Given the description of an element on the screen output the (x, y) to click on. 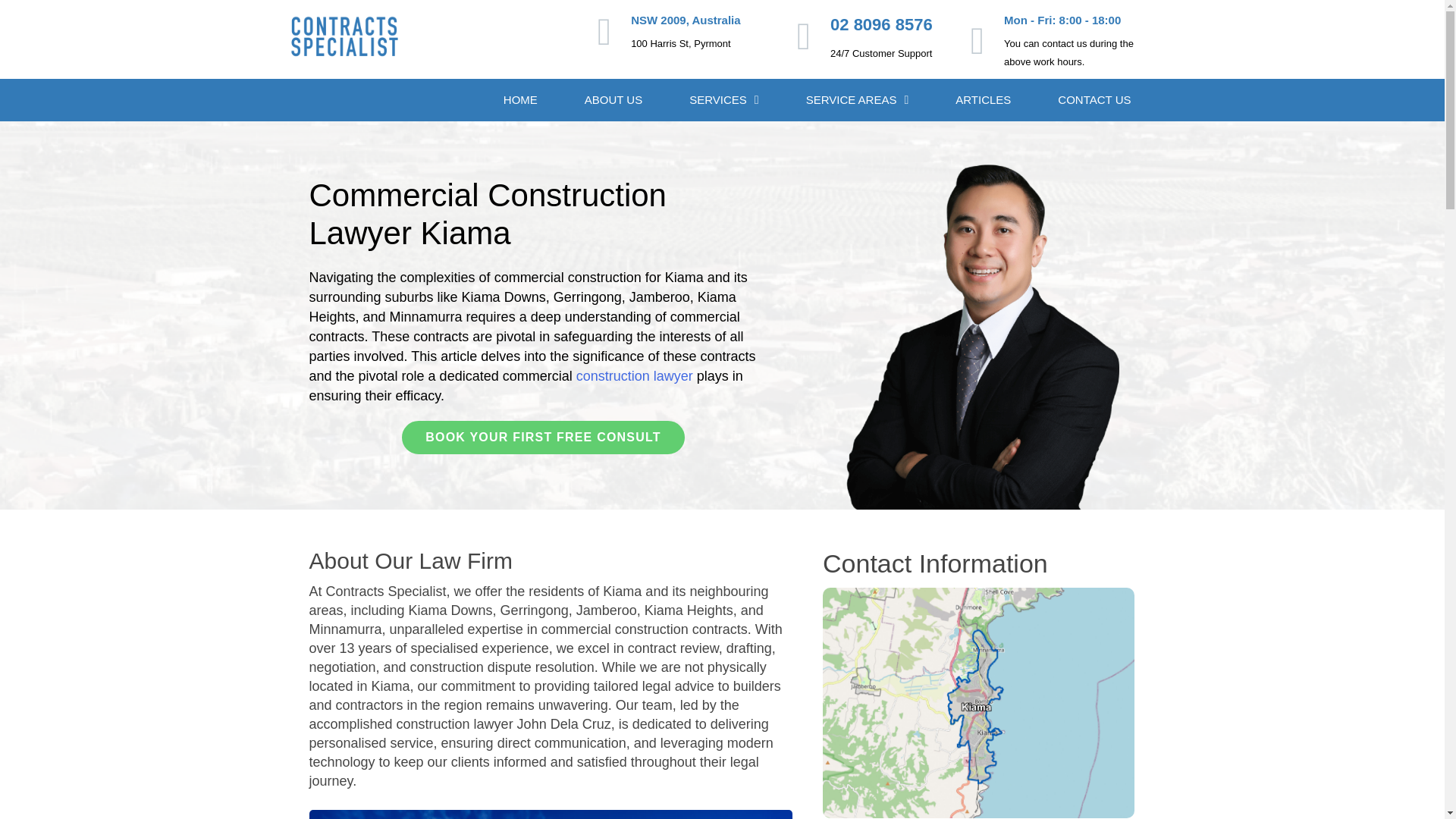
ABOUT US (612, 99)
construction lawyer (634, 376)
02 8096 8576 (881, 24)
HOME (520, 99)
ARTICLES (982, 99)
CONTACT US (1093, 99)
BOOK YOUR FIRST FREE CONSULT (542, 437)
SERVICES (723, 99)
SERVICE AREAS (858, 99)
